Given the description of an element on the screen output the (x, y) to click on. 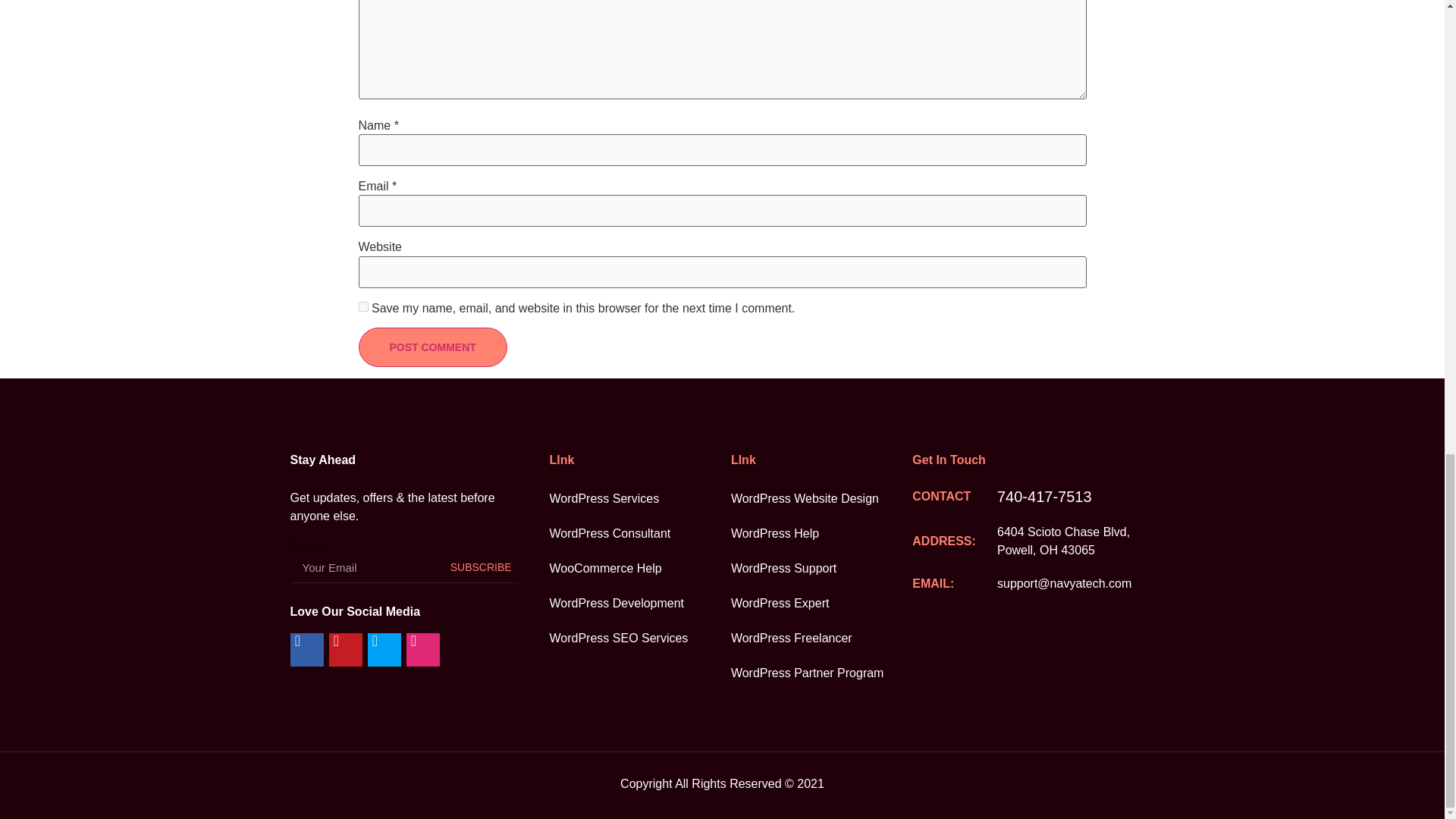
WordPress Freelancer (821, 638)
WordPress Help (821, 533)
WordPress SEO Services (639, 638)
yes (363, 307)
WordPress Development (639, 603)
WordPress Partner Program (821, 673)
WordPress Services (639, 498)
WooCommerce Help (639, 568)
WordPress Consultant (639, 533)
SUBSCRIBE (480, 567)
WordPress Website Design (821, 498)
Post Comment (432, 346)
Post Comment (432, 346)
WordPress Expert (821, 603)
WordPress Support (821, 568)
